Given the description of an element on the screen output the (x, y) to click on. 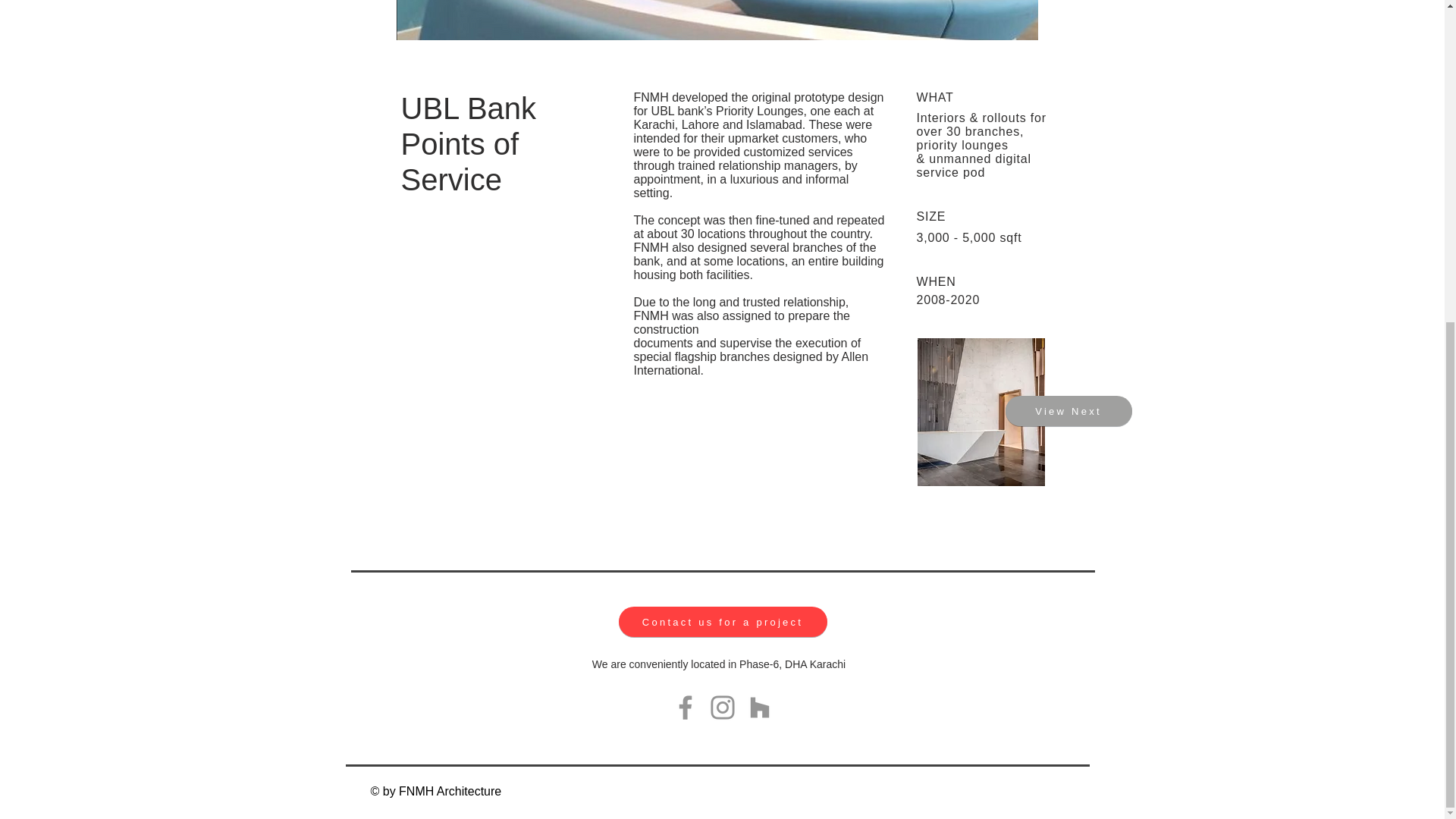
View Next (1069, 410)
Contact us for a project (722, 621)
